Given the description of an element on the screen output the (x, y) to click on. 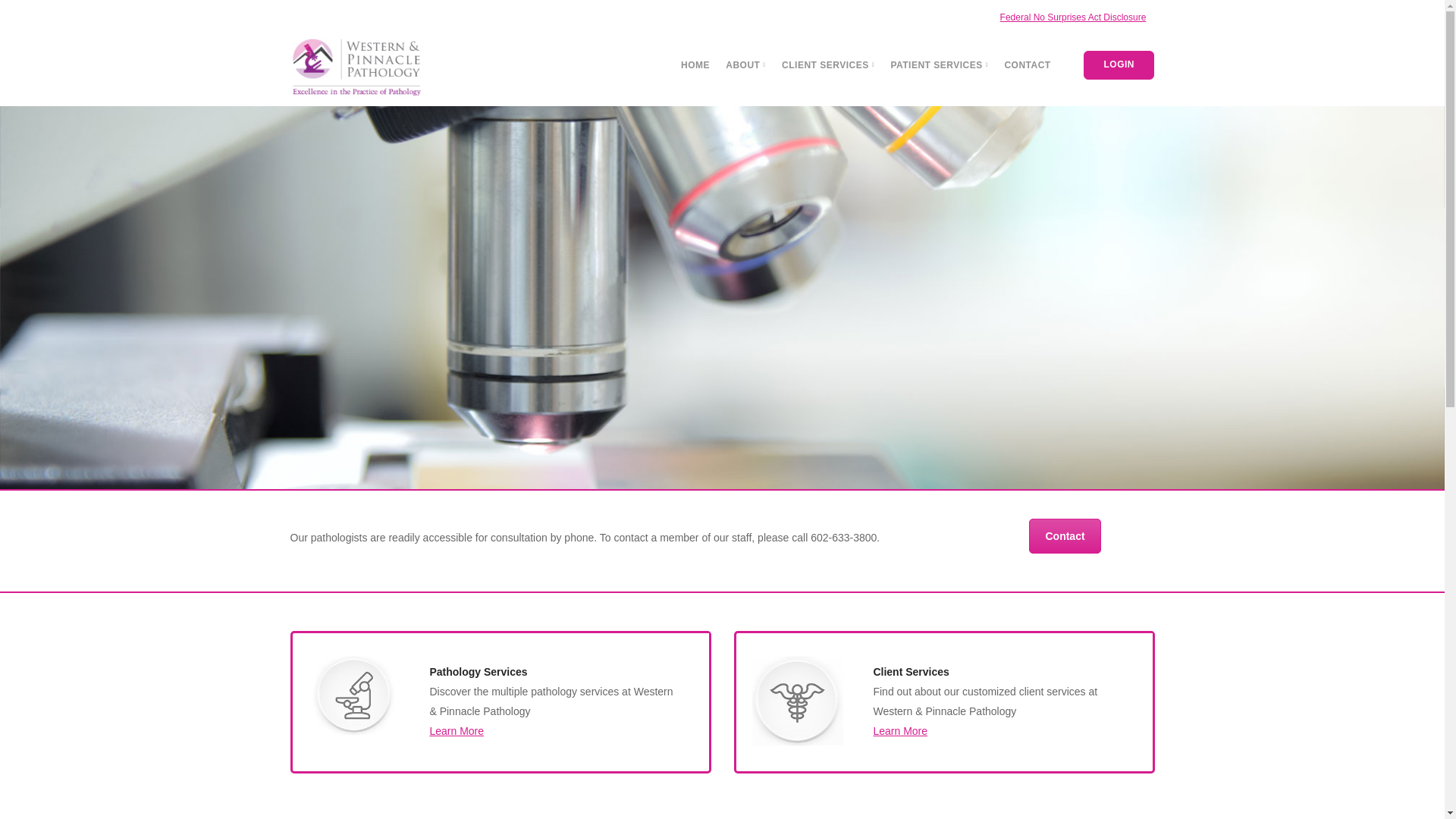
Learn More (899, 730)
CONTACT (1026, 64)
Federal No Surprises Act Disclosure (1073, 17)
LOGIN (1118, 64)
Learn More (456, 730)
Contact (1064, 535)
HOME (695, 64)
